Given the description of an element on the screen output the (x, y) to click on. 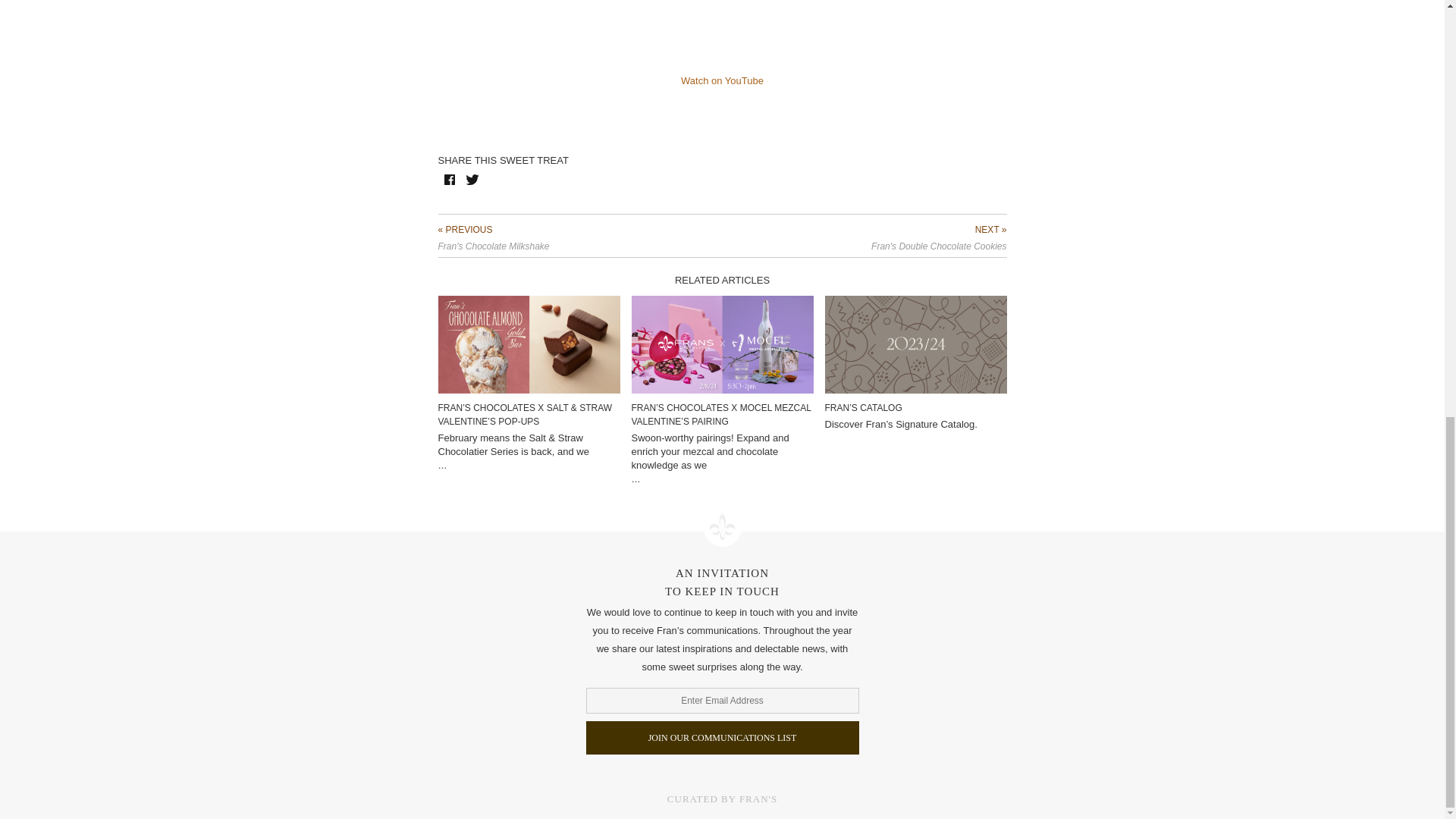
Facebook (449, 179)
Watch on YouTube (721, 80)
Twitter (472, 179)
join our communications list (722, 737)
join our communications list (722, 737)
